Given the description of an element on the screen output the (x, y) to click on. 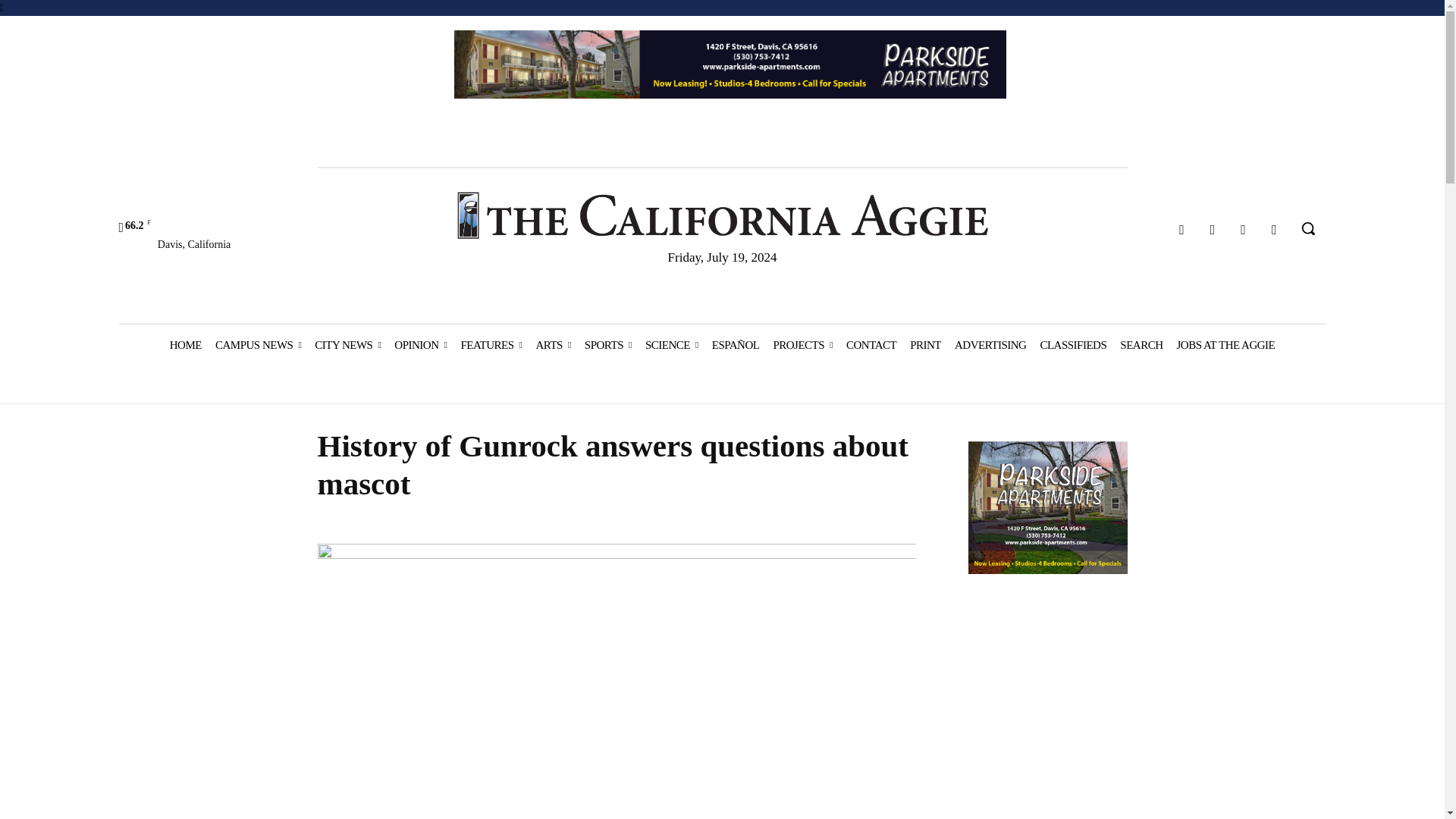
Facebook (1181, 229)
CAMPUS NEWS (257, 345)
Youtube (1273, 229)
Twitter (1243, 229)
Instagram (1212, 229)
HOME (185, 345)
